Given the description of an element on the screen output the (x, y) to click on. 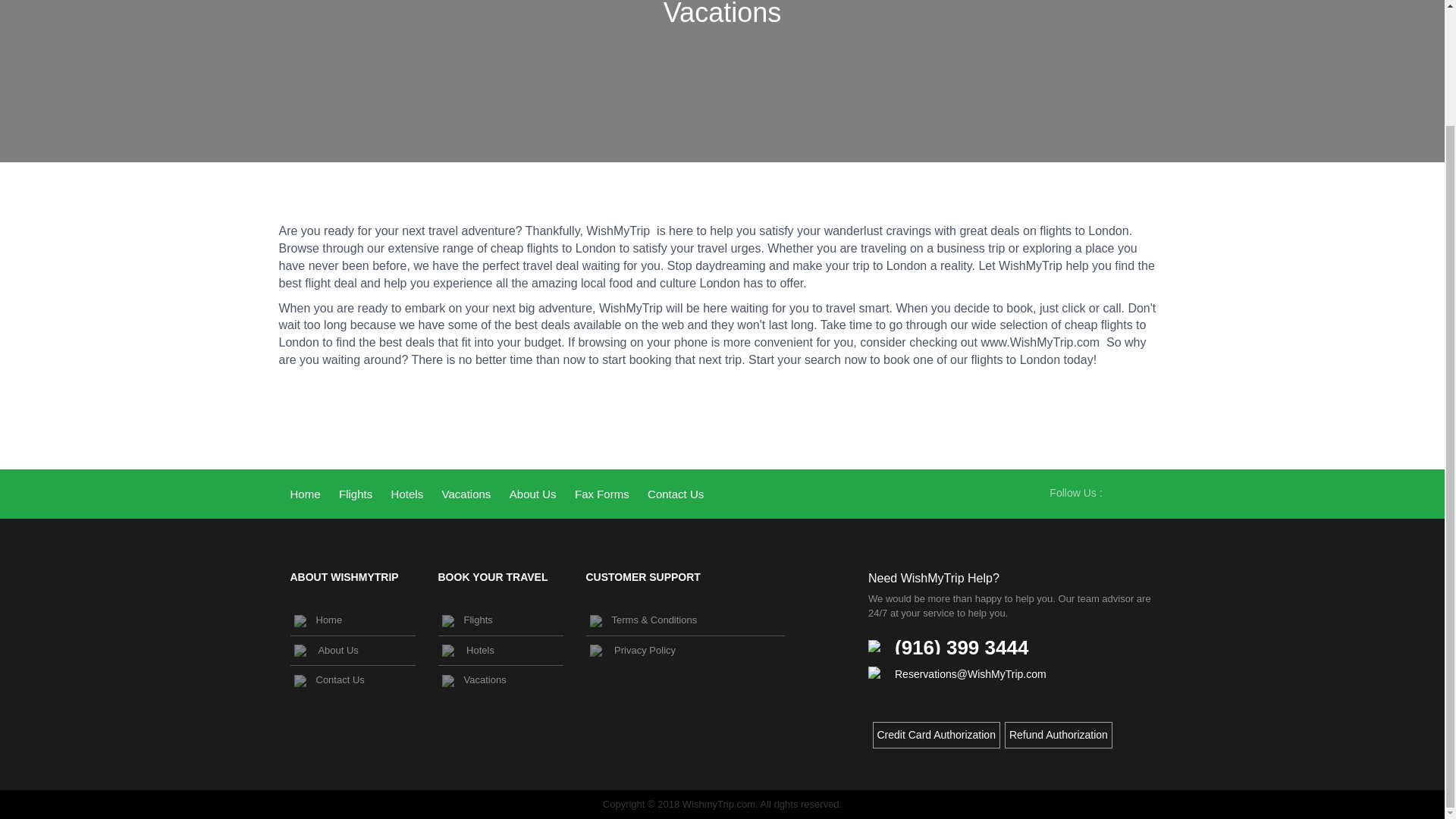
Credit Card Authorization (935, 734)
Home (304, 494)
About Us (532, 494)
Fax Forms (601, 494)
Vacations (500, 680)
Flights (355, 494)
Contact Us (351, 680)
Home (351, 621)
Privacy Policy (684, 650)
Flights (500, 621)
